Given the description of an element on the screen output the (x, y) to click on. 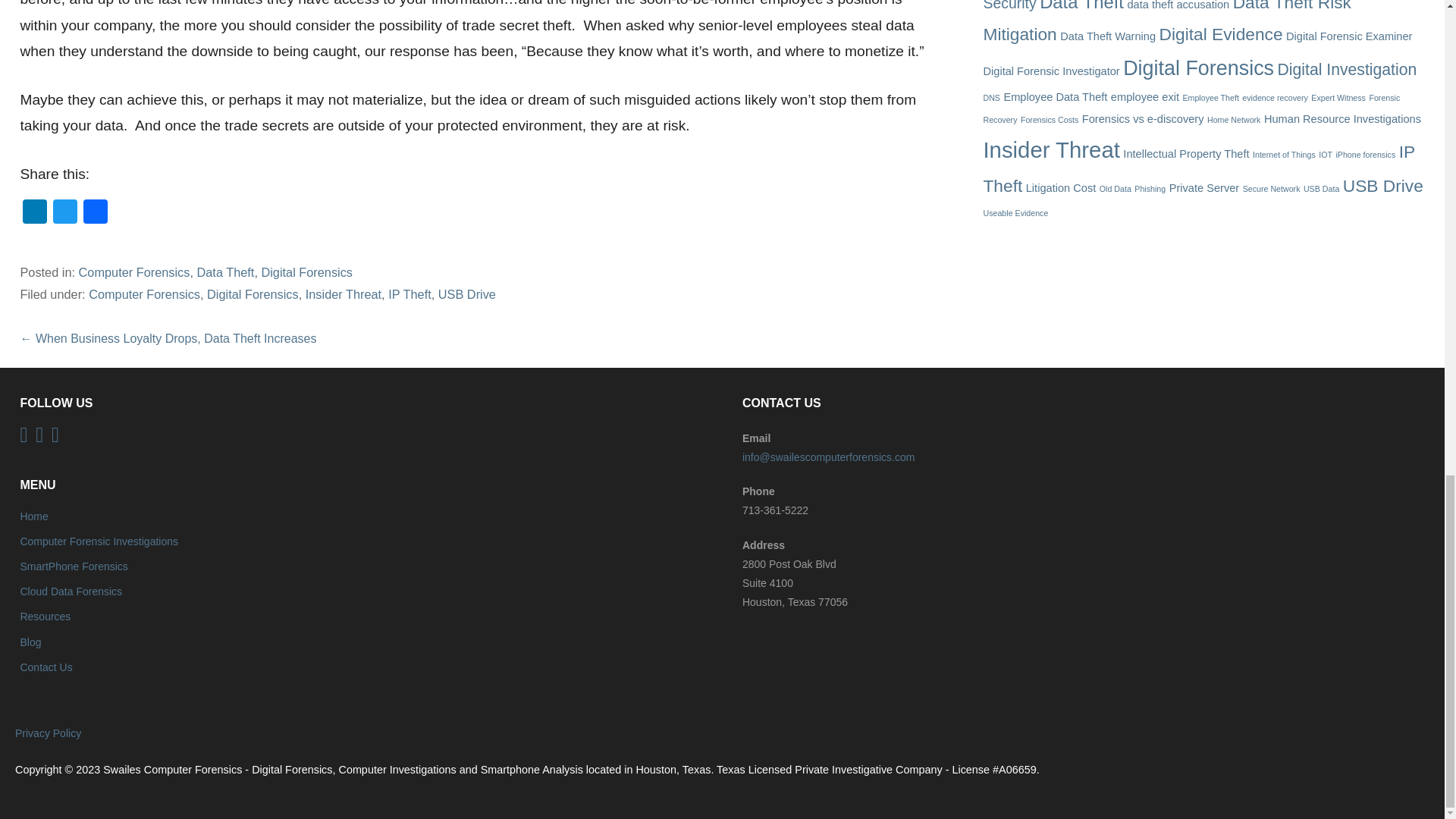
Digital Forensics (252, 294)
Twitter (64, 213)
LinkedIn (34, 213)
Computer Forensics (144, 294)
LinkedIn (34, 213)
Insider Threat (343, 294)
Facebook (95, 213)
IP Theft (409, 294)
Twitter (64, 213)
USB Drive (467, 294)
Facebook (95, 213)
Computer Forensics (134, 272)
